Given the description of an element on the screen output the (x, y) to click on. 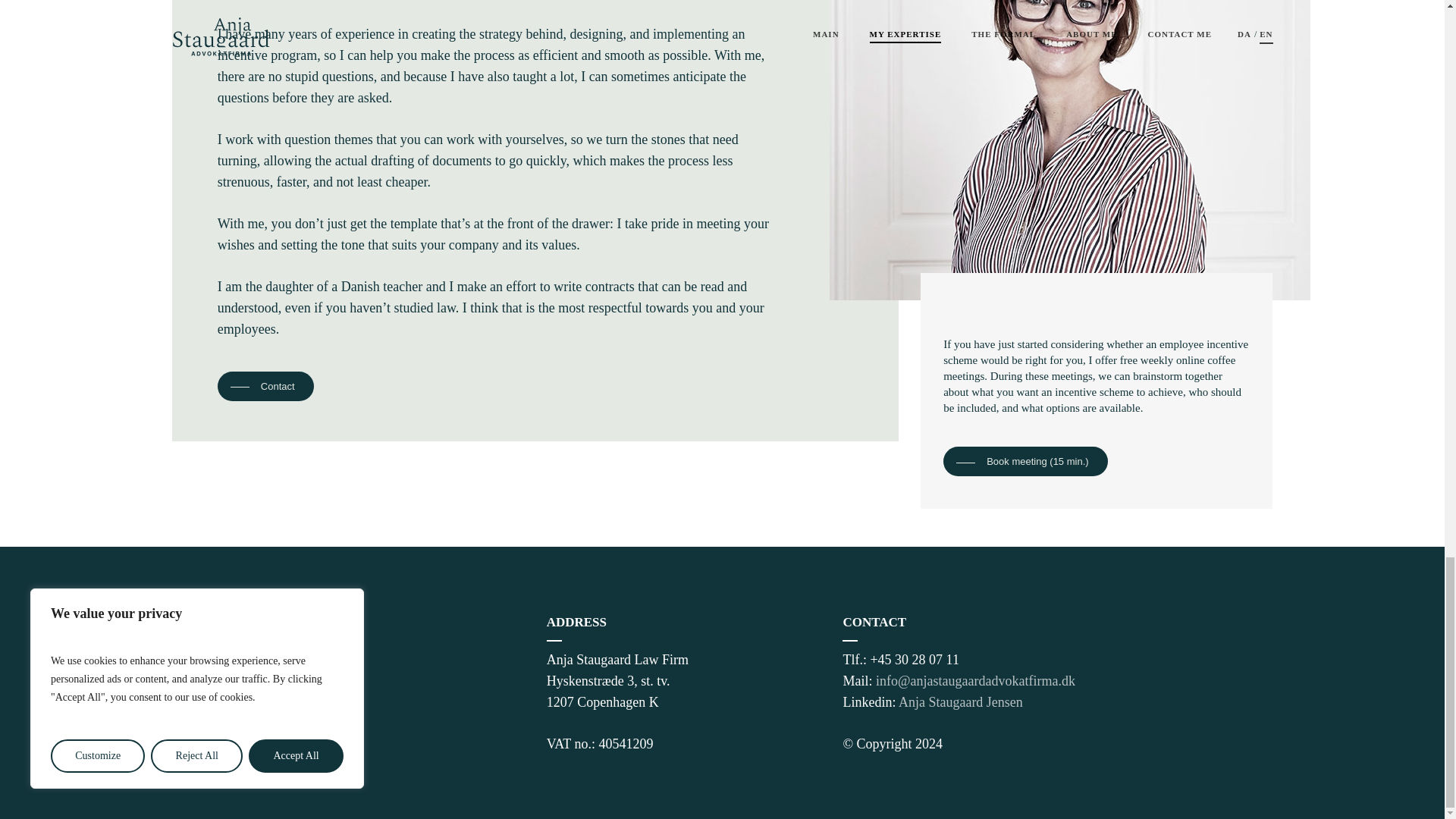
Anja Staugaard Jensen (960, 702)
Contact (266, 386)
